Given the description of an element on the screen output the (x, y) to click on. 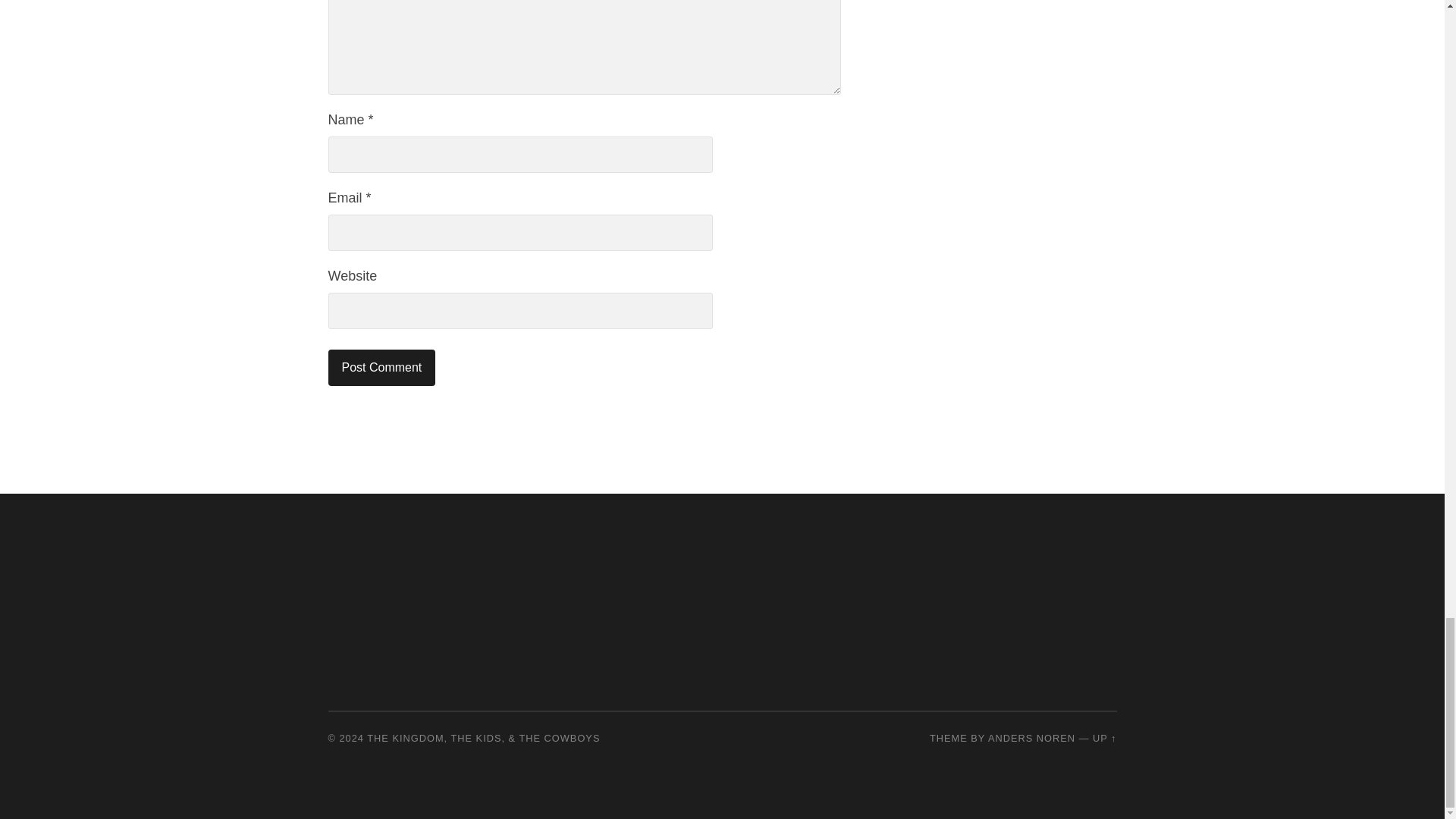
Post Comment (381, 367)
To the top (1104, 737)
Post Comment (381, 367)
